Given the description of an element on the screen output the (x, y) to click on. 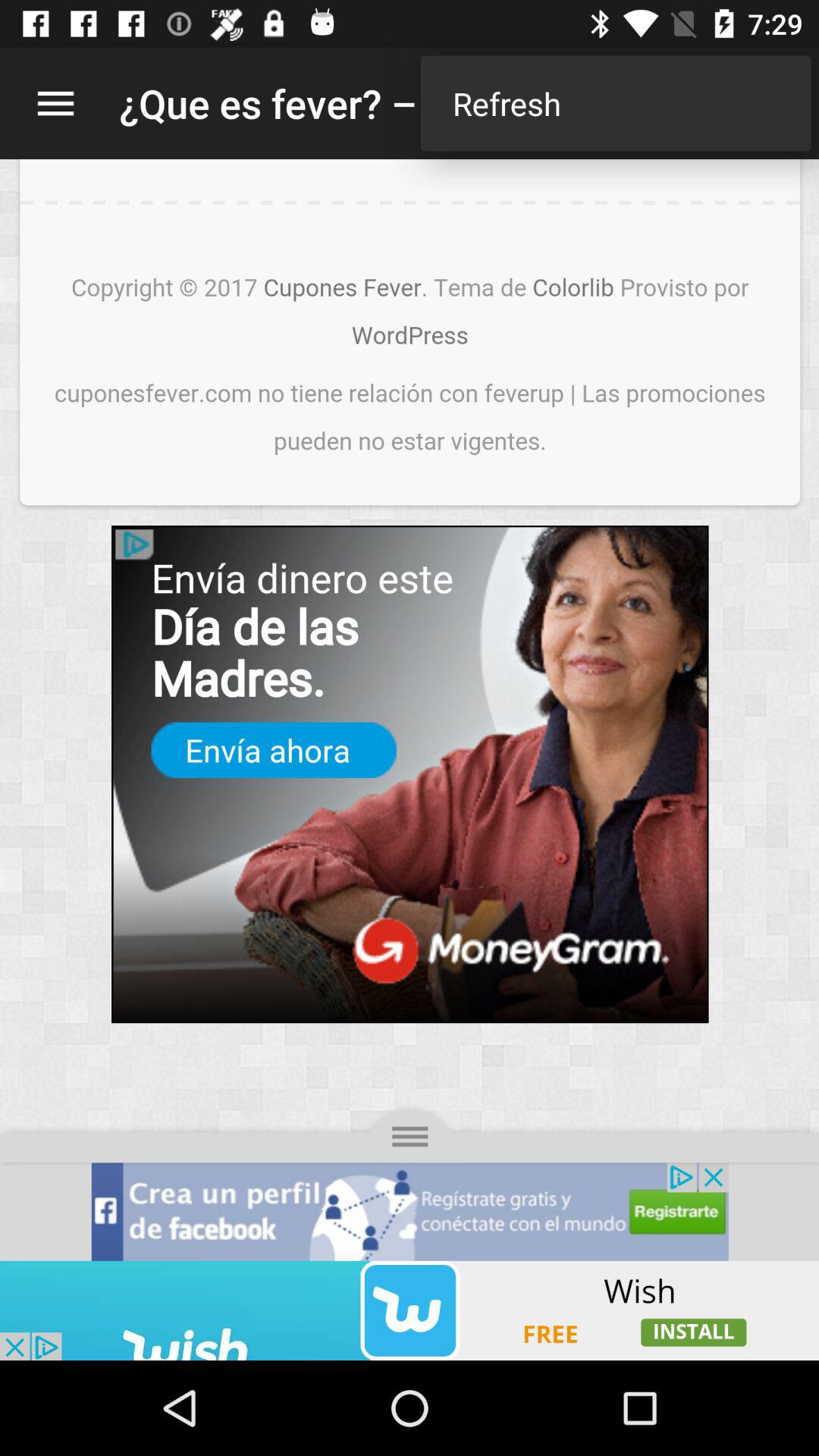
advertisements image (409, 1310)
